Given the description of an element on the screen output the (x, y) to click on. 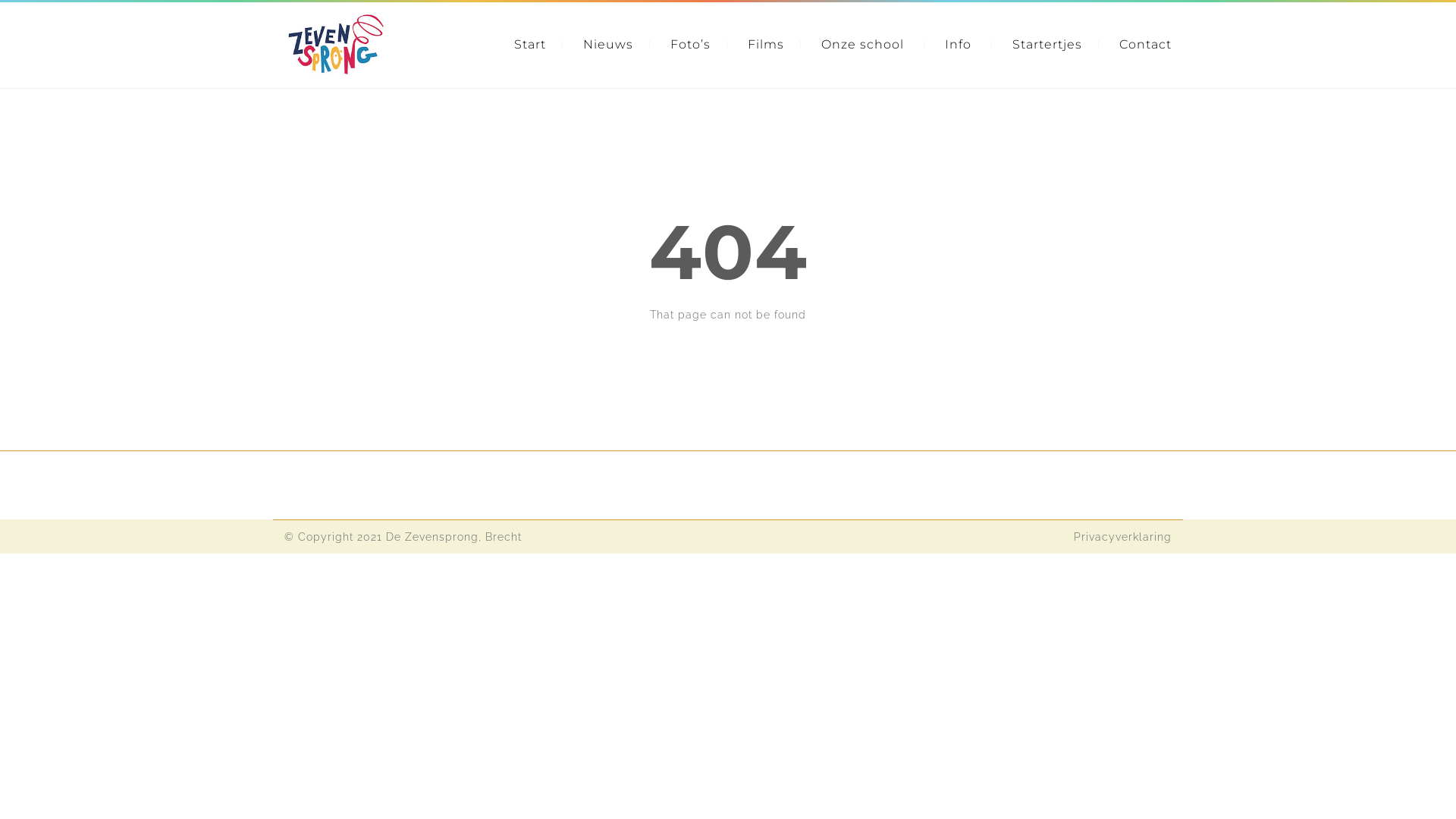
Films Element type: text (765, 44)
Onze school Element type: text (862, 44)
Info Element type: text (957, 44)
Start Element type: text (530, 44)
Startertjes Element type: text (1047, 44)
Privacyverklaring Element type: text (1122, 536)
Nieuws Element type: text (608, 44)
Contact Element type: text (1145, 44)
